Given the description of an element on the screen output the (x, y) to click on. 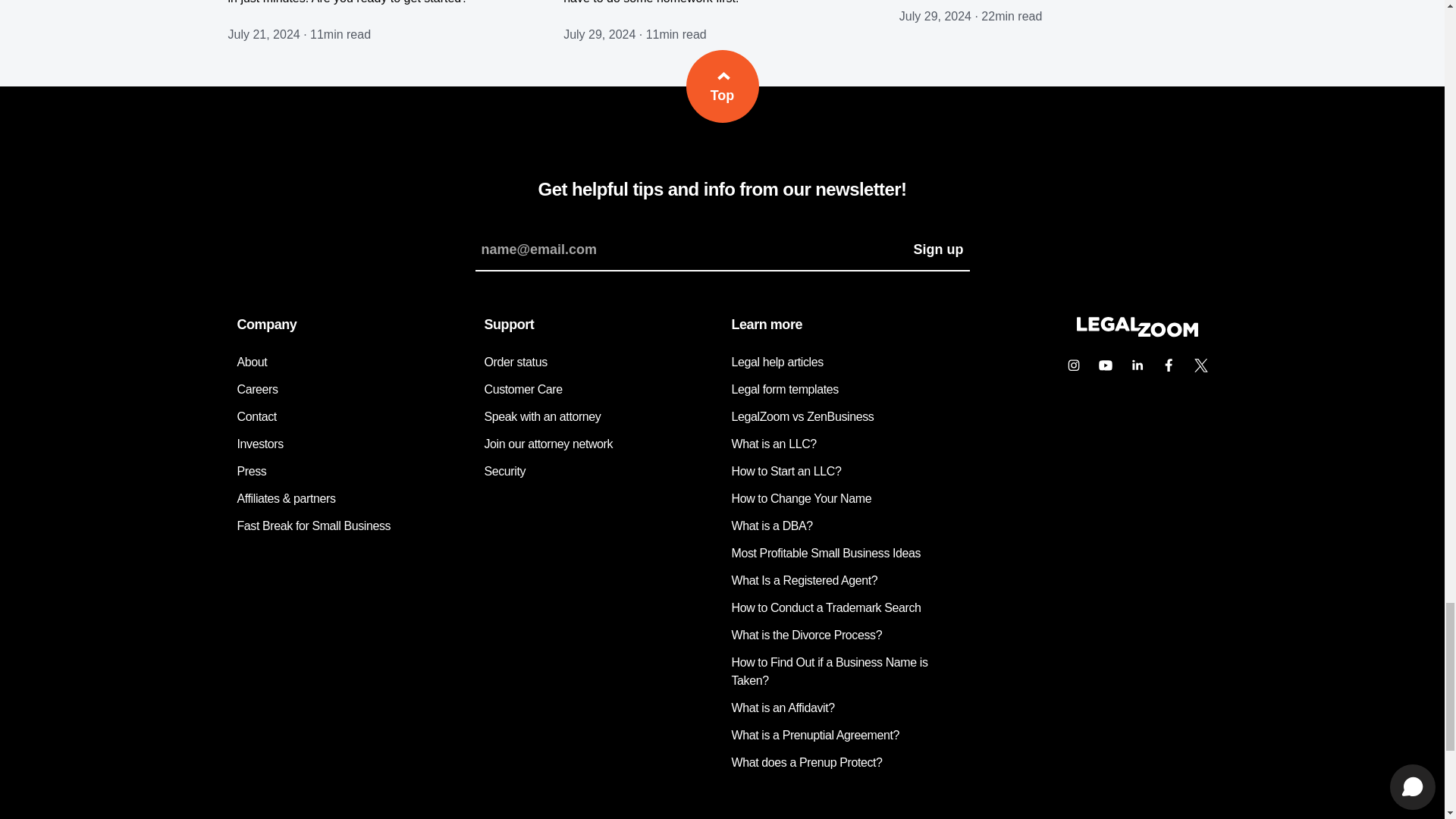
YouTube (1105, 365)
Twitter (1200, 365)
LinkedIn (1137, 365)
Top (721, 85)
Back to top (721, 85)
Facebook (1169, 365)
Instagram (1073, 365)
Sign up (938, 249)
Sign up (938, 249)
LegalZoom (1136, 332)
